Given the description of an element on the screen output the (x, y) to click on. 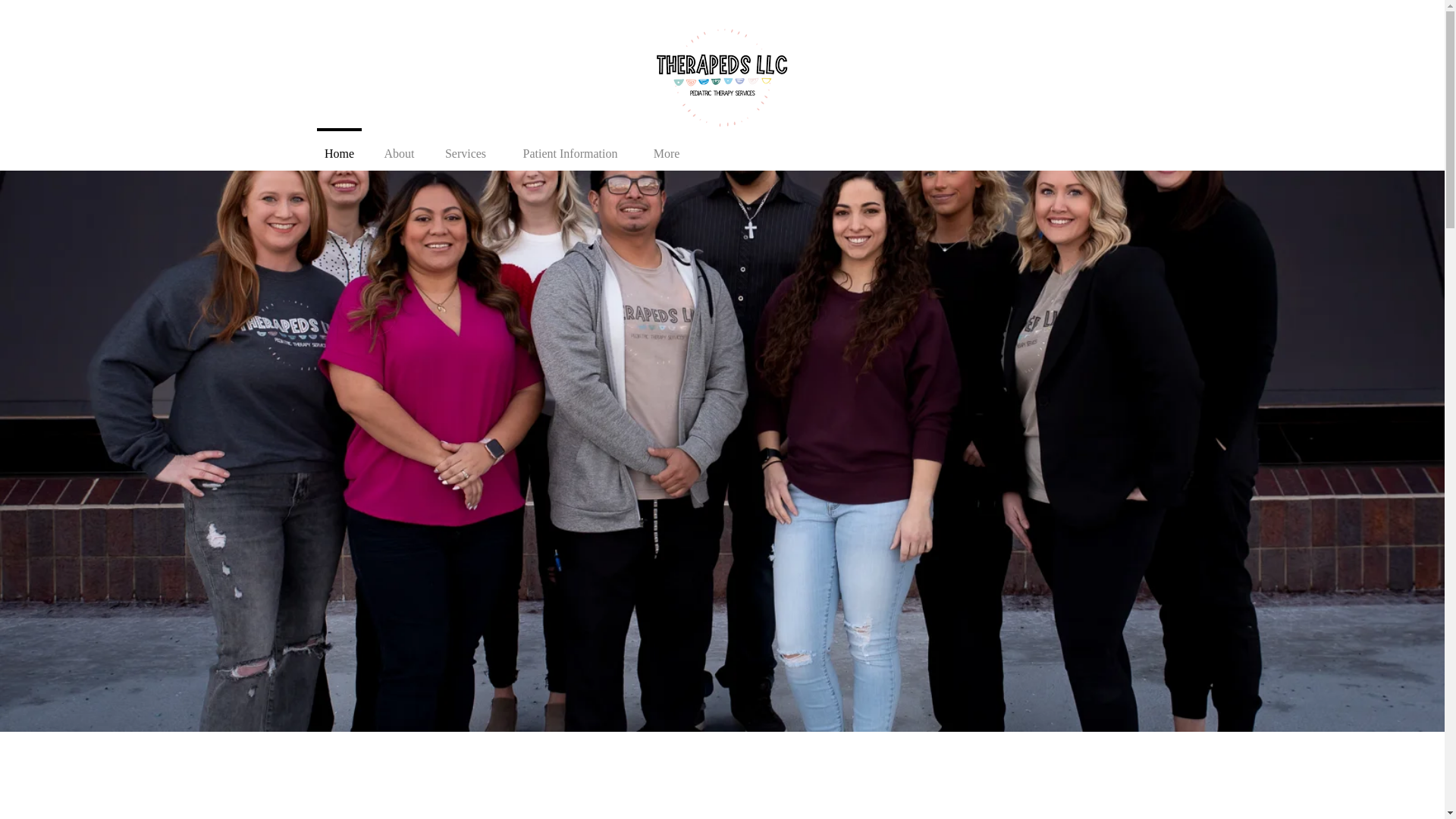
Home (338, 146)
Services (465, 146)
About (399, 146)
Patient Information (570, 146)
